Given the description of an element on the screen output the (x, y) to click on. 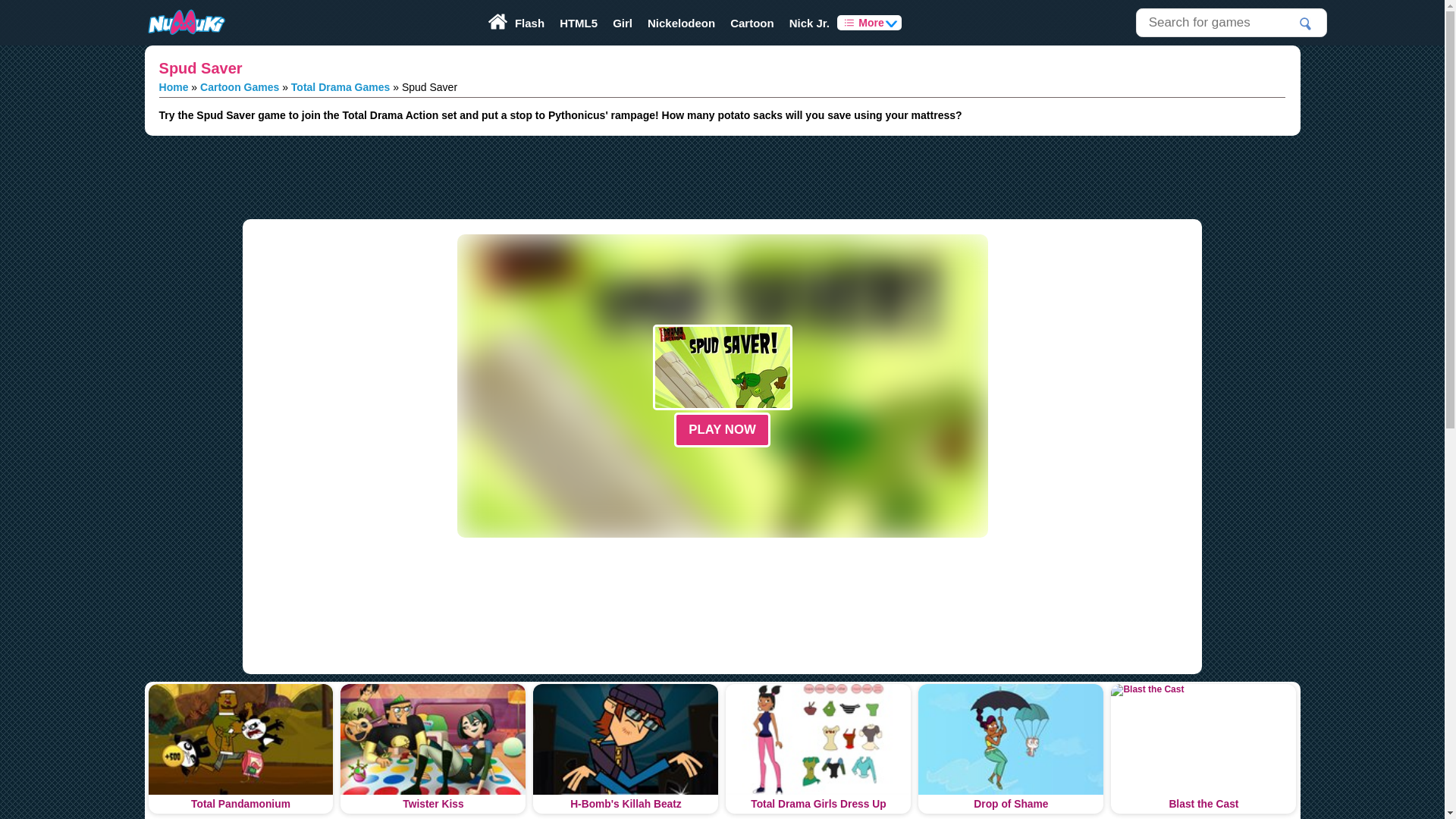
HTML5 (578, 22)
Total Drama Games (340, 87)
Cartoon Games (751, 22)
Flash Games (528, 22)
HTML5 Games (578, 22)
Girl Games (622, 22)
Girl (622, 22)
Cartoon (751, 22)
Flash (528, 22)
